Given the description of an element on the screen output the (x, y) to click on. 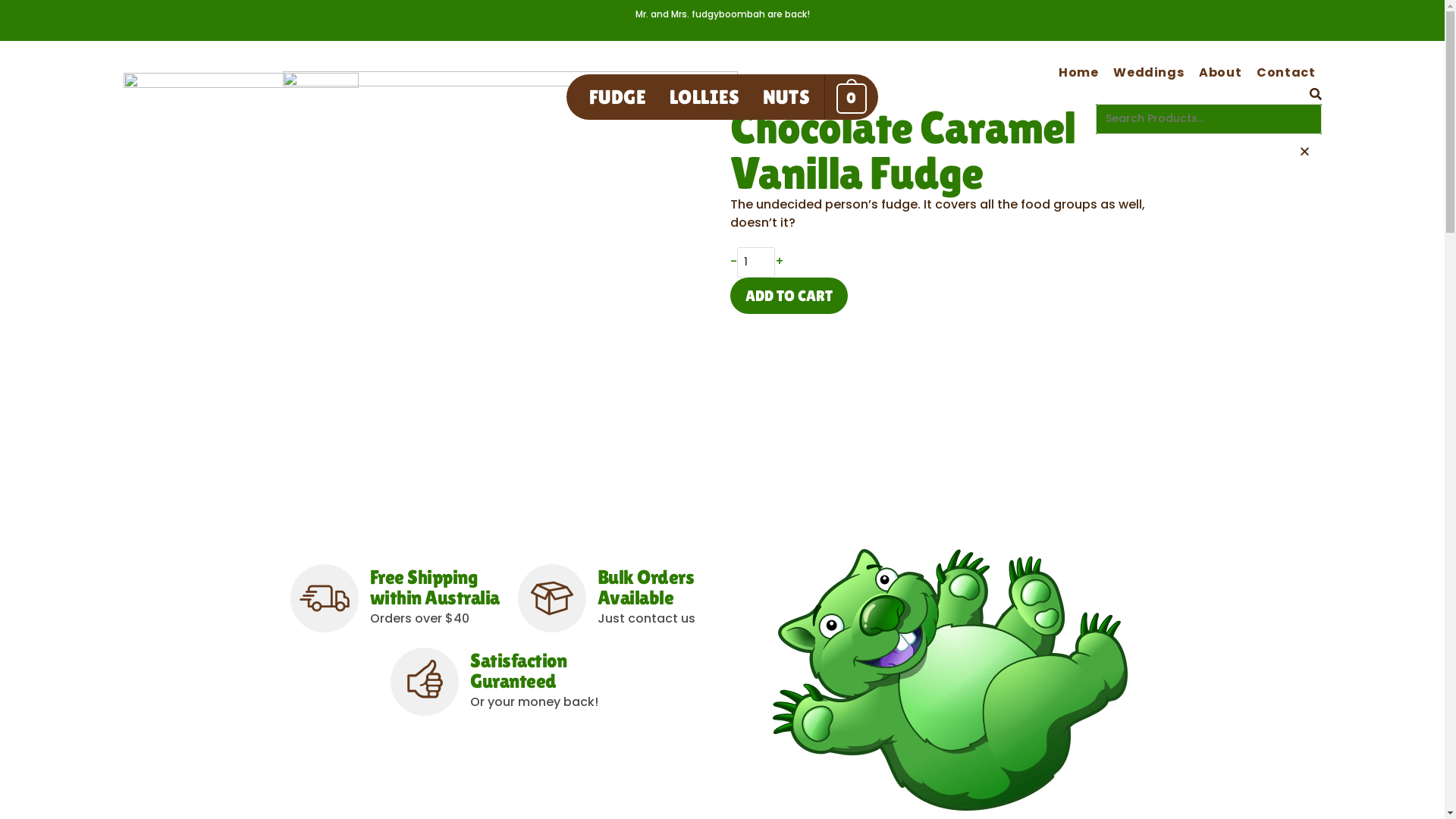
LOLLIES Element type: text (704, 96)
+ Element type: text (779, 260)
Contact Element type: text (1285, 72)
0 Element type: text (851, 96)
About Element type: text (1219, 72)
- Element type: text (732, 260)
Home Element type: text (1078, 72)
Weddings Element type: text (1148, 72)
FUDGE Element type: text (617, 96)
Chocolate Caramel Vanilla Fudge Element type: text (901, 149)
NUTS Element type: text (786, 96)
ADD TO CART Element type: text (788, 295)
